Given the description of an element on the screen output the (x, y) to click on. 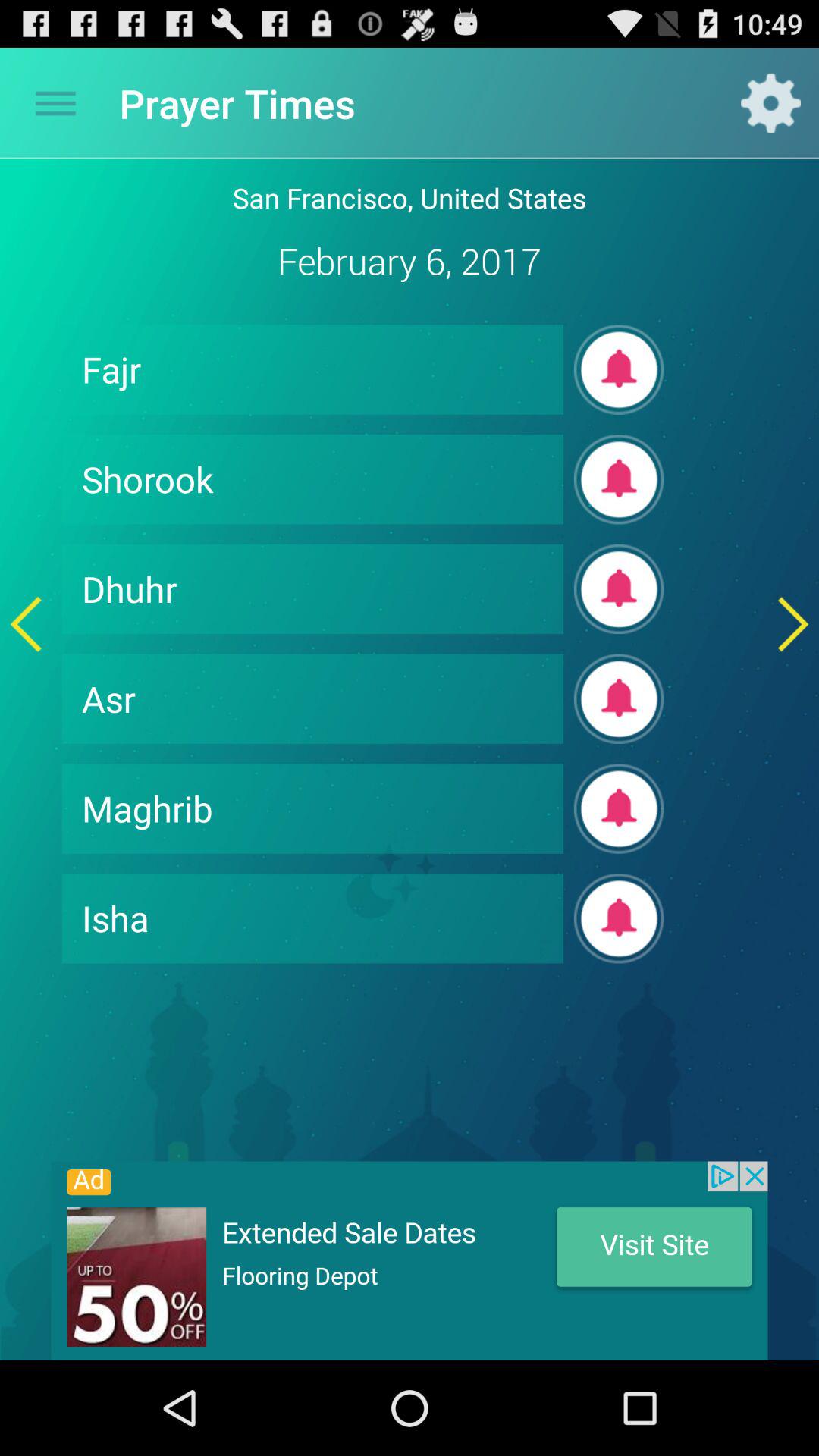
alert for isha (618, 918)
